Given the description of an element on the screen output the (x, y) to click on. 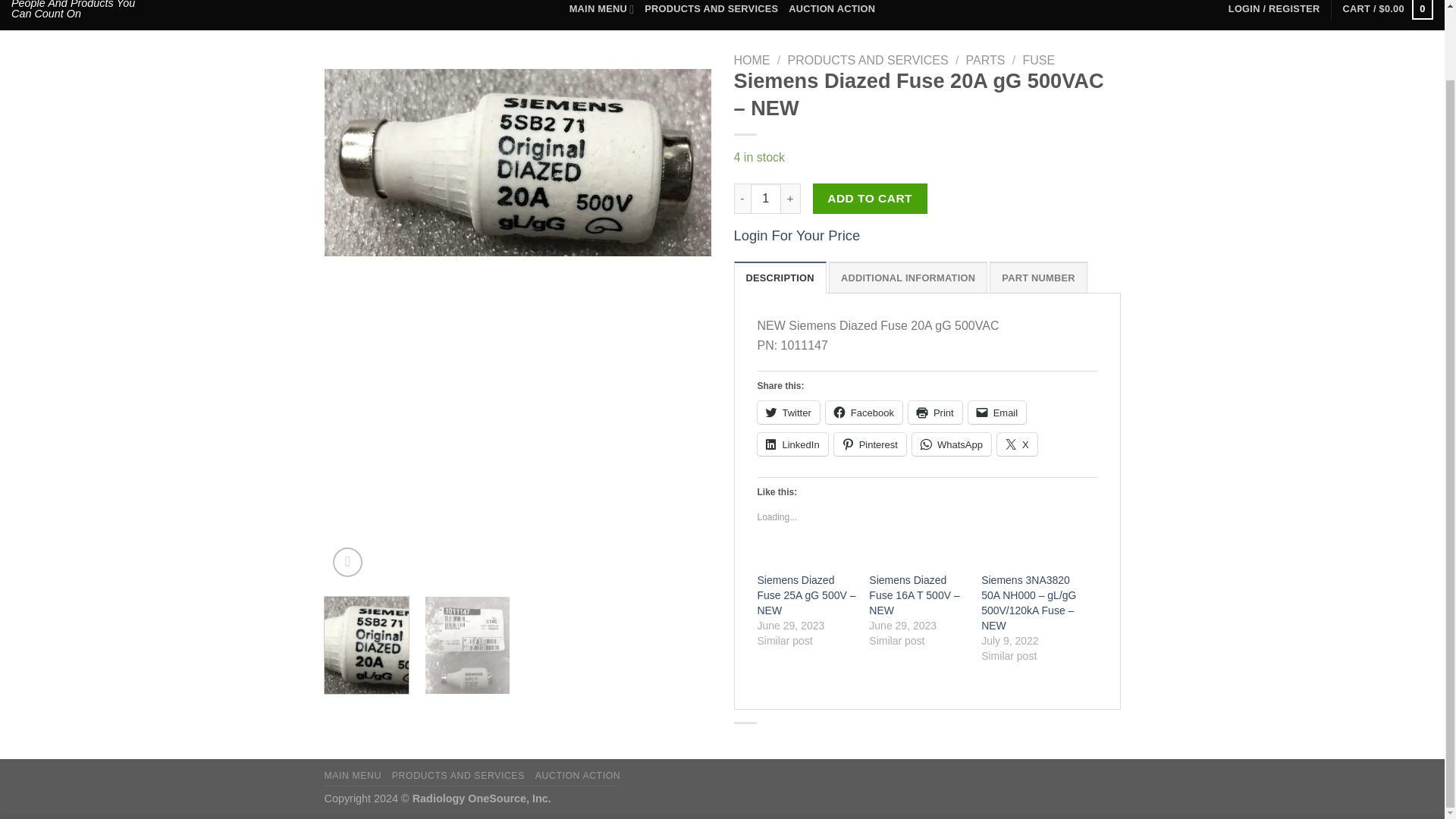
PARTS (986, 60)
FUSE (1038, 60)
Login (1274, 12)
PRODUCTS AND SERVICES (711, 12)
Cart (1387, 15)
MAIN MENU (601, 12)
ADD TO CART (869, 198)
PRODUCTS AND SERVICES (867, 60)
AUCTION ACTION (832, 12)
HOME (751, 60)
